Given the description of an element on the screen output the (x, y) to click on. 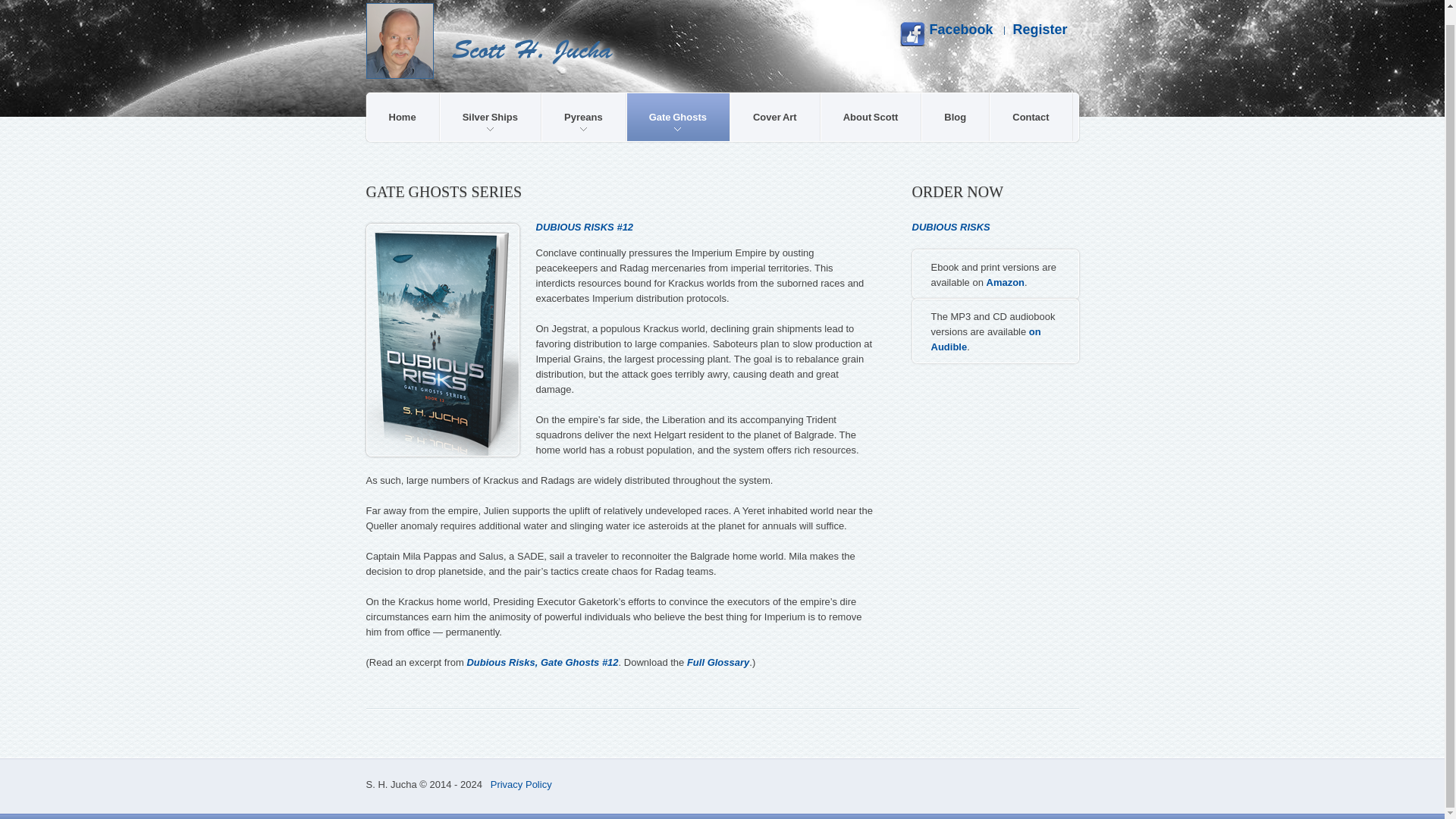
Home (402, 116)
Gate Ghosts (678, 116)
 Facebook (945, 33)
Pyreans (583, 116)
Silver Ships (490, 116)
Register (1039, 29)
